Given the description of an element on the screen output the (x, y) to click on. 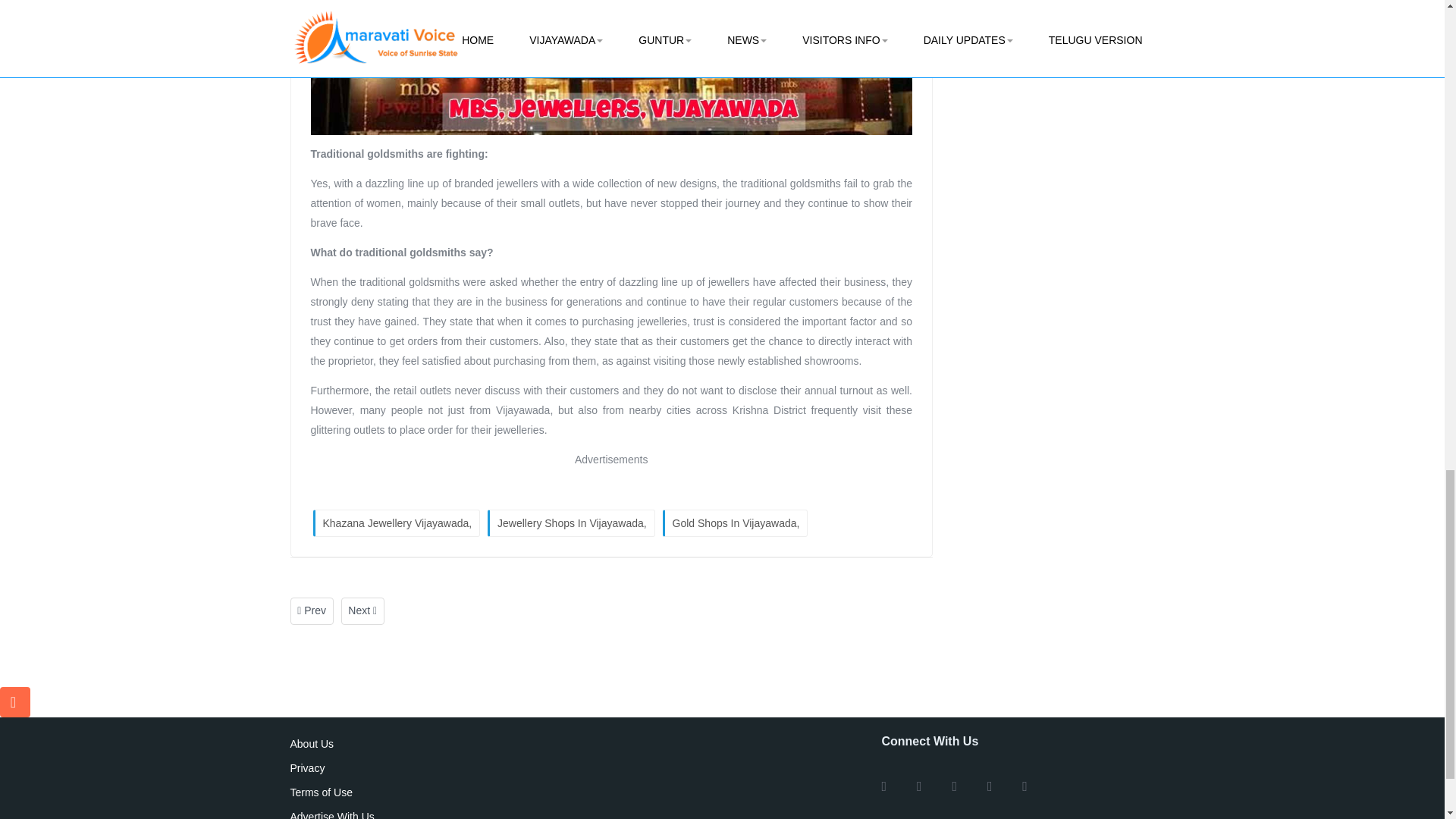
Prev (311, 610)
Khazana Jewellery Vijayawada, (396, 523)
Jewellery Shops In Vijayawada, (571, 523)
Gold Shops In Vijayawada, (735, 523)
About Us (425, 743)
Privacy (425, 764)
Back to Top (15, 702)
Next (362, 610)
